Given the description of an element on the screen output the (x, y) to click on. 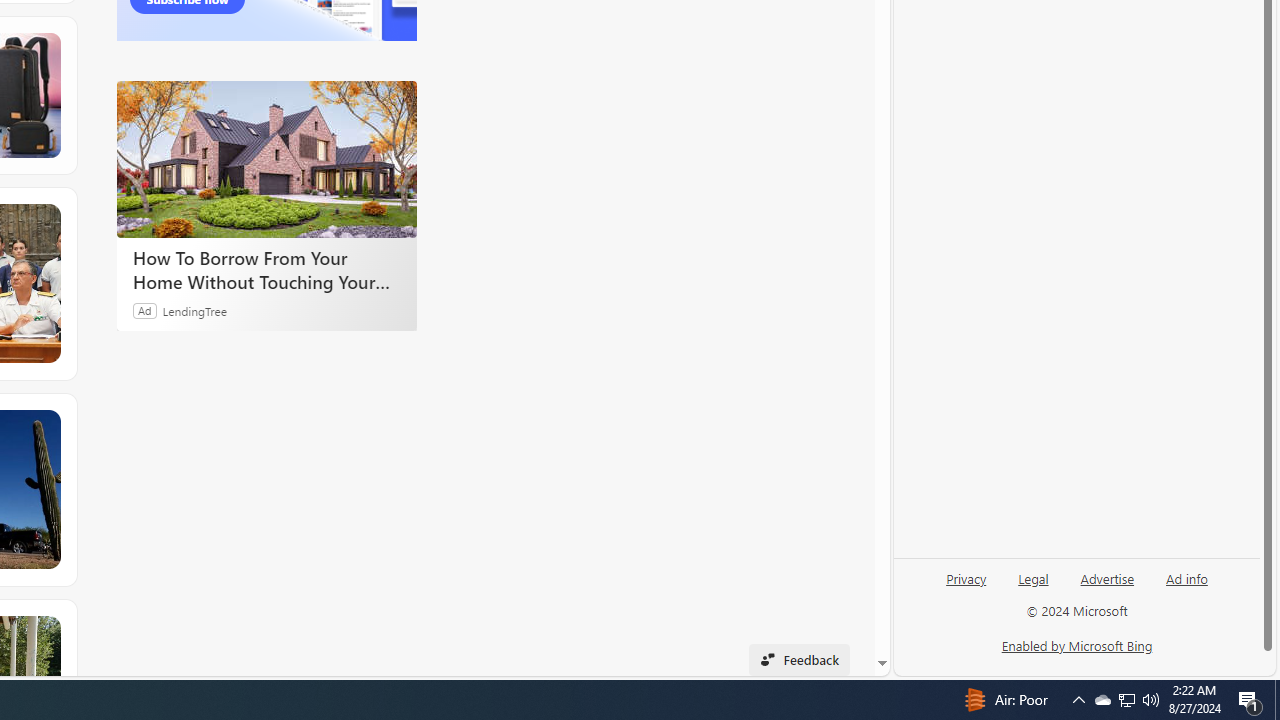
LendingTree (194, 309)
